Given the description of an element on the screen output the (x, y) to click on. 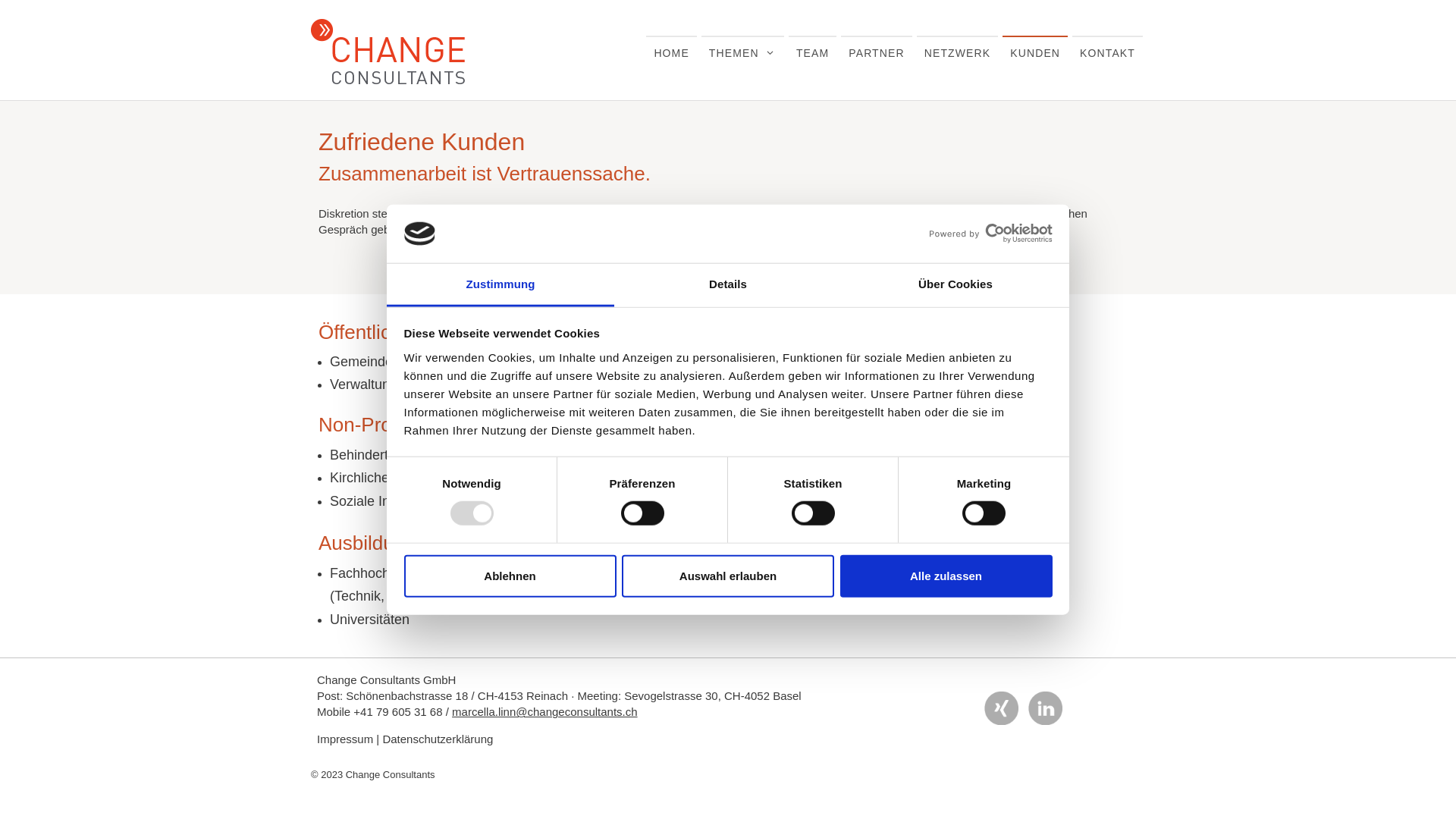
HOME Element type: text (671, 52)
Zustimmung Element type: text (500, 285)
TEAM Element type: text (812, 52)
Details Element type: text (727, 285)
Alle zulassen Element type: text (946, 575)
Auswahl erlauben Element type: text (727, 575)
KUNDEN Element type: text (1034, 52)
THEMEN Element type: text (742, 52)
PARTNER Element type: text (875, 52)
NETZWERK Element type: text (957, 52)
Impressum Element type: text (344, 738)
Ablehnen Element type: text (509, 575)
marcella.linn@changeconsultants.ch Element type: text (544, 711)
KONTAKT Element type: text (1107, 52)
